Given the description of an element on the screen output the (x, y) to click on. 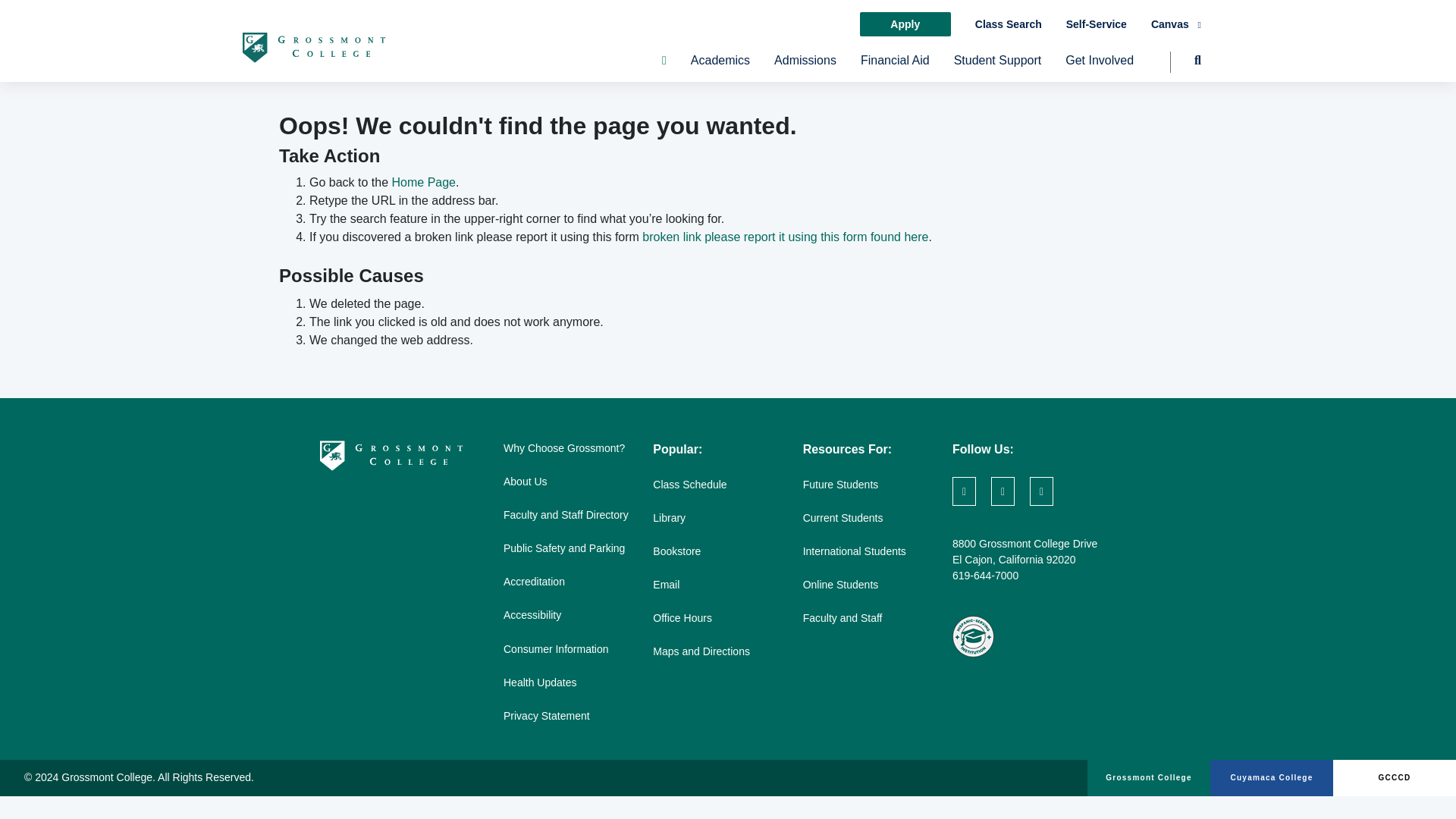
Apply (905, 24)
Get Involved (1099, 66)
Why Choose Grossmont? (563, 448)
Self-Service (1095, 23)
Student Support (997, 66)
Public Safety and Parking (563, 548)
Class Search (1008, 23)
Future Students (841, 484)
Accessibility (531, 614)
Current Students (843, 517)
Admissions (804, 66)
Financial Aid (895, 66)
Academics (719, 66)
Canvas (1176, 23)
Health Updates (539, 682)
